Given the description of an element on the screen output the (x, y) to click on. 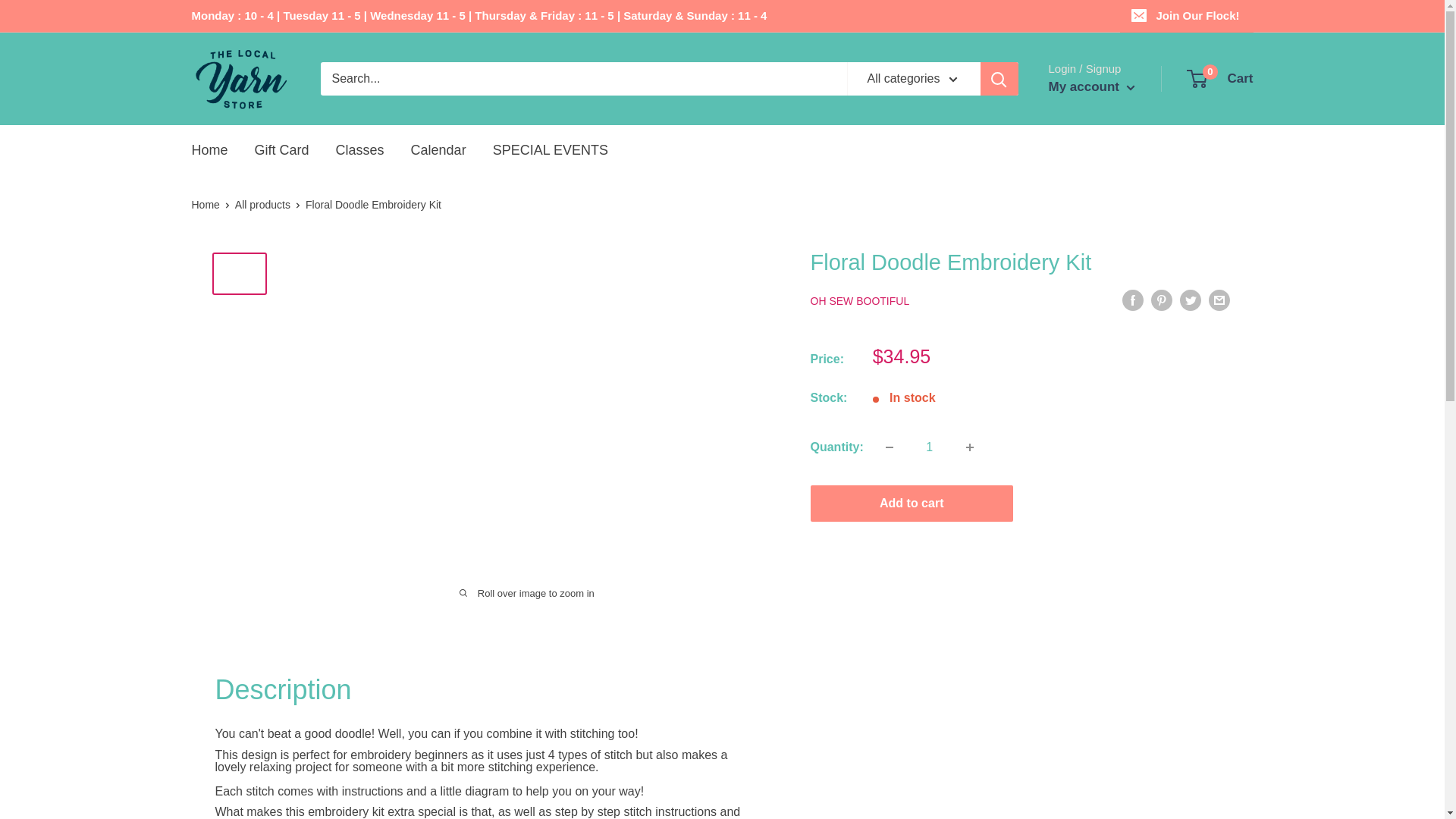
Classes (360, 150)
Decrease quantity by 1 (1220, 78)
All products (889, 447)
Join Our Flock! (261, 204)
Home (1185, 15)
Increase quantity by 1 (208, 150)
1 (969, 447)
Calendar (929, 447)
Gift Card (437, 150)
